Given the description of an element on the screen output the (x, y) to click on. 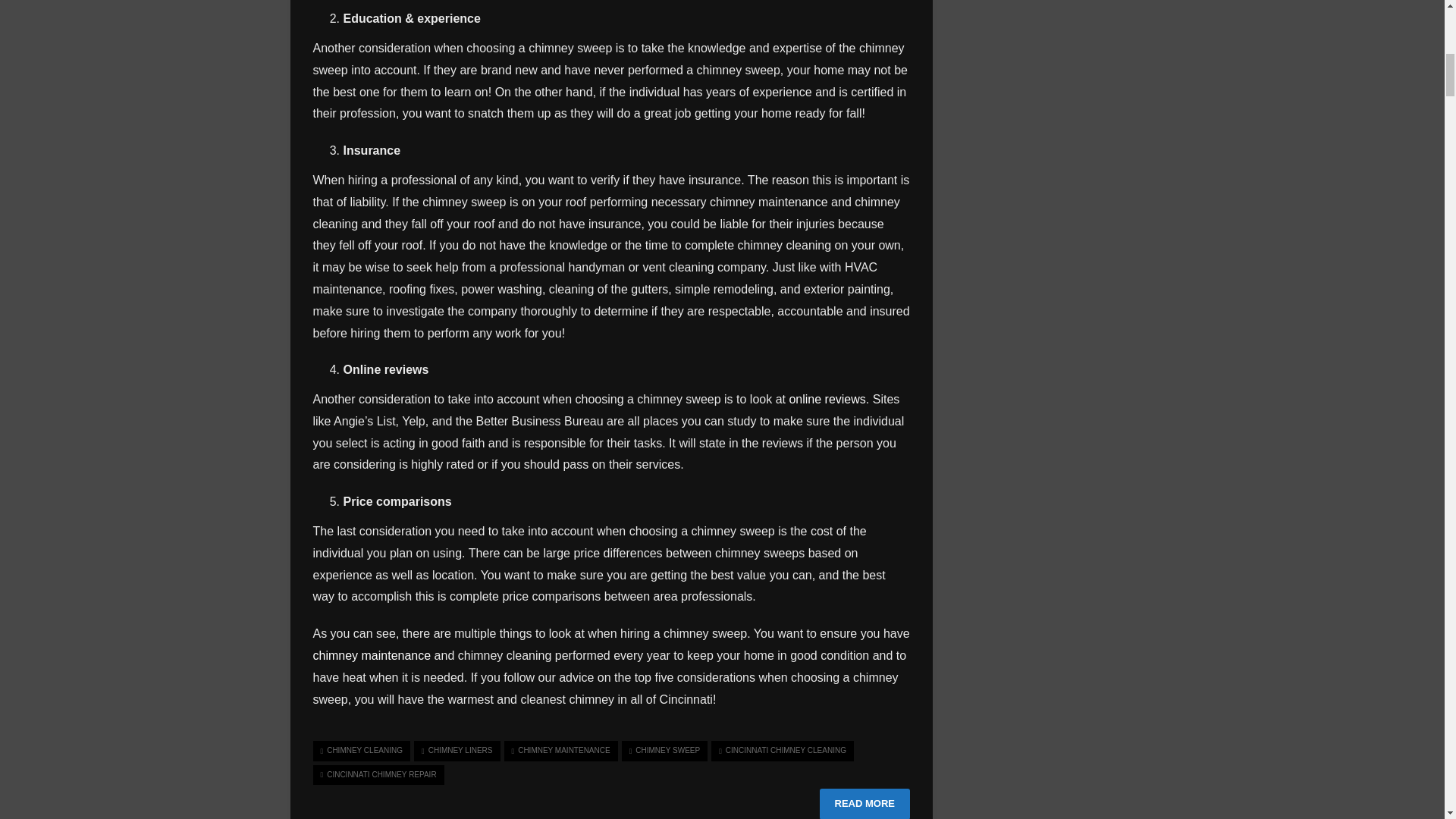
READ MORE (864, 803)
chimney maintenance (371, 655)
CHIMNEY MAINTENANCE (560, 750)
CINCINNATI CHIMNEY CLEANING (782, 750)
online reviews (826, 399)
CINCINNATI CHIMNEY REPAIR (378, 774)
CHIMNEY LINERS (456, 750)
CHIMNEY CLEANING (361, 750)
CHIMNEY SWEEP (664, 750)
